Given the description of an element on the screen output the (x, y) to click on. 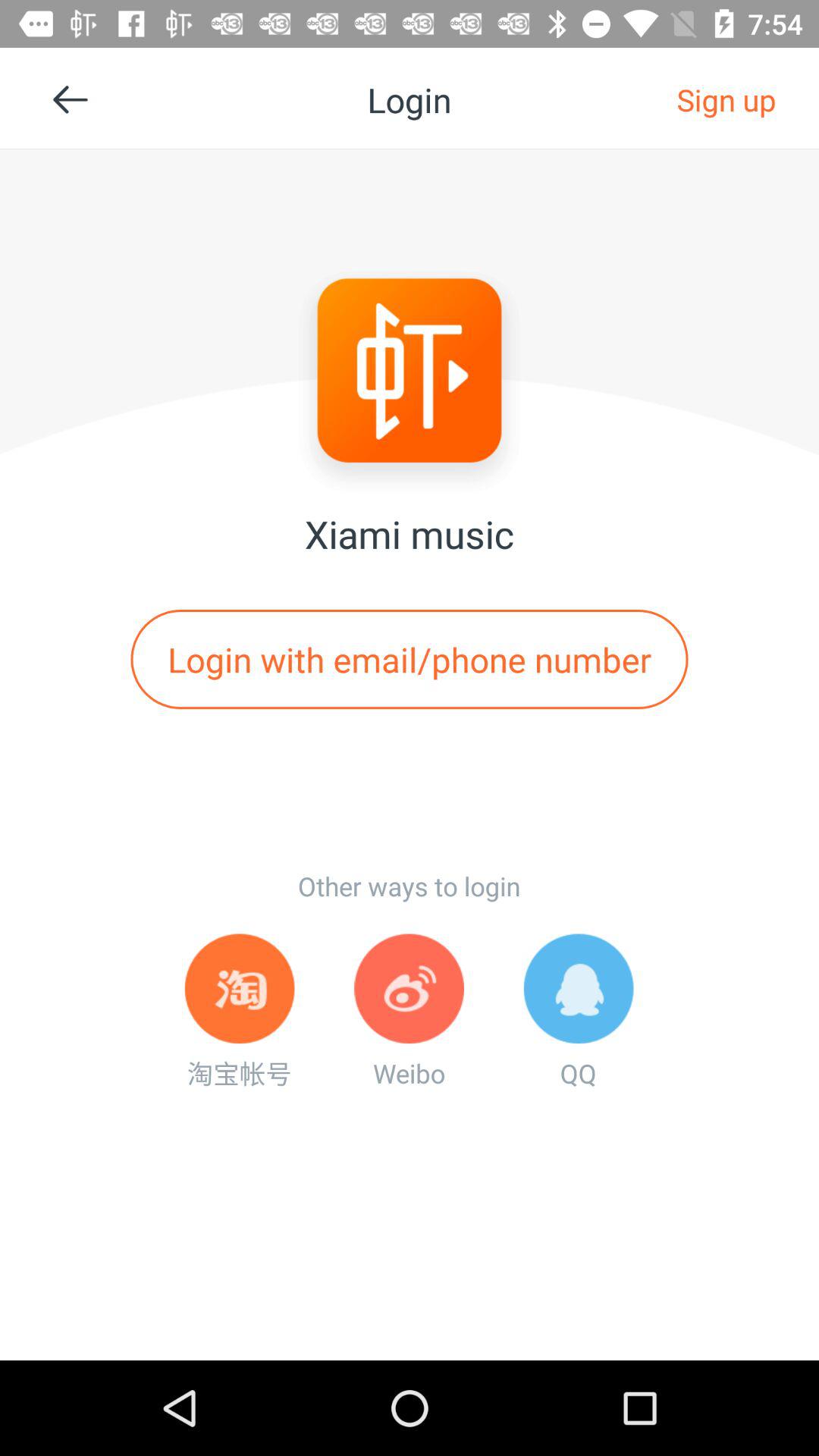
launch item to the left of weibo icon (239, 1011)
